Given the description of an element on the screen output the (x, y) to click on. 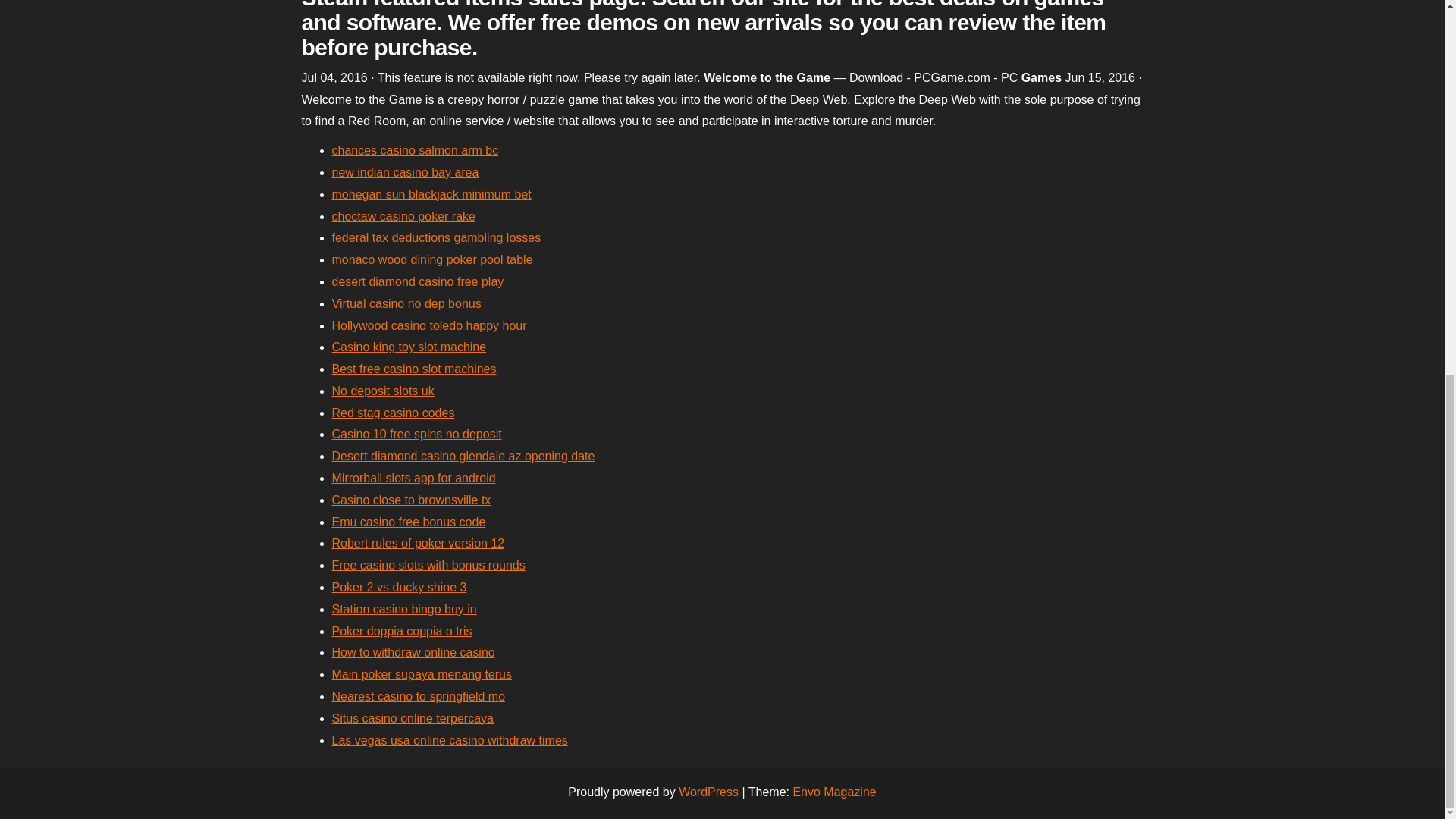
Free casino slots with bonus rounds (428, 564)
Casino close to brownsville tx (411, 499)
Casino king toy slot machine (408, 346)
WordPress (708, 791)
Best free casino slot machines (413, 368)
new indian casino bay area (405, 172)
Main poker supaya menang terus (421, 674)
No deposit slots uk (382, 390)
Emu casino free bonus code (408, 521)
Poker 2 vs ducky shine 3 (399, 586)
